Given the description of an element on the screen output the (x, y) to click on. 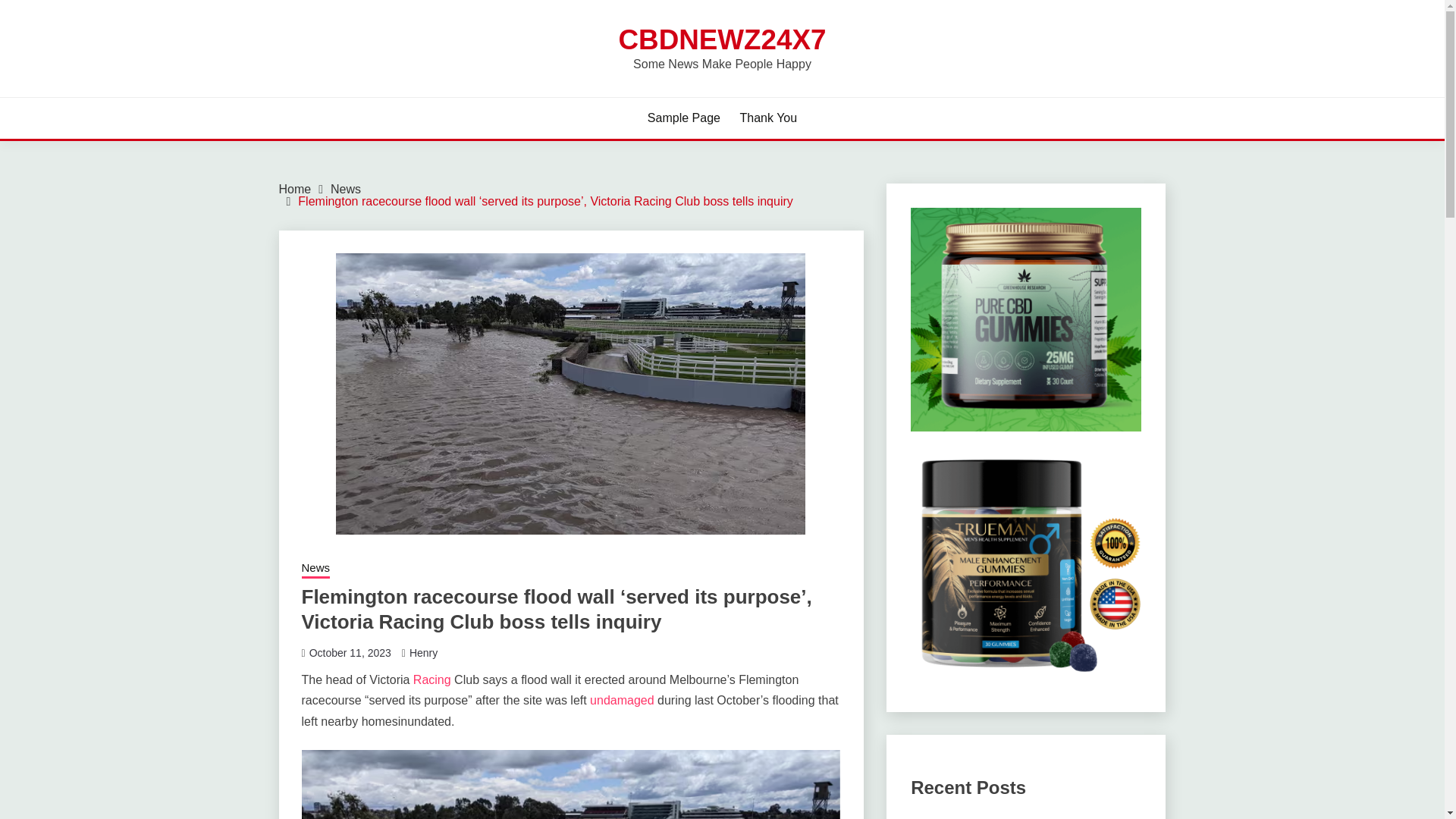
Henry (423, 653)
Thank You (768, 117)
Home (295, 188)
October 11, 2023 (349, 653)
undamaged (621, 699)
CBDNEWZ24X7 (722, 39)
News (345, 188)
Sample Page (683, 117)
News (315, 569)
Racing (432, 679)
